Given the description of an element on the screen output the (x, y) to click on. 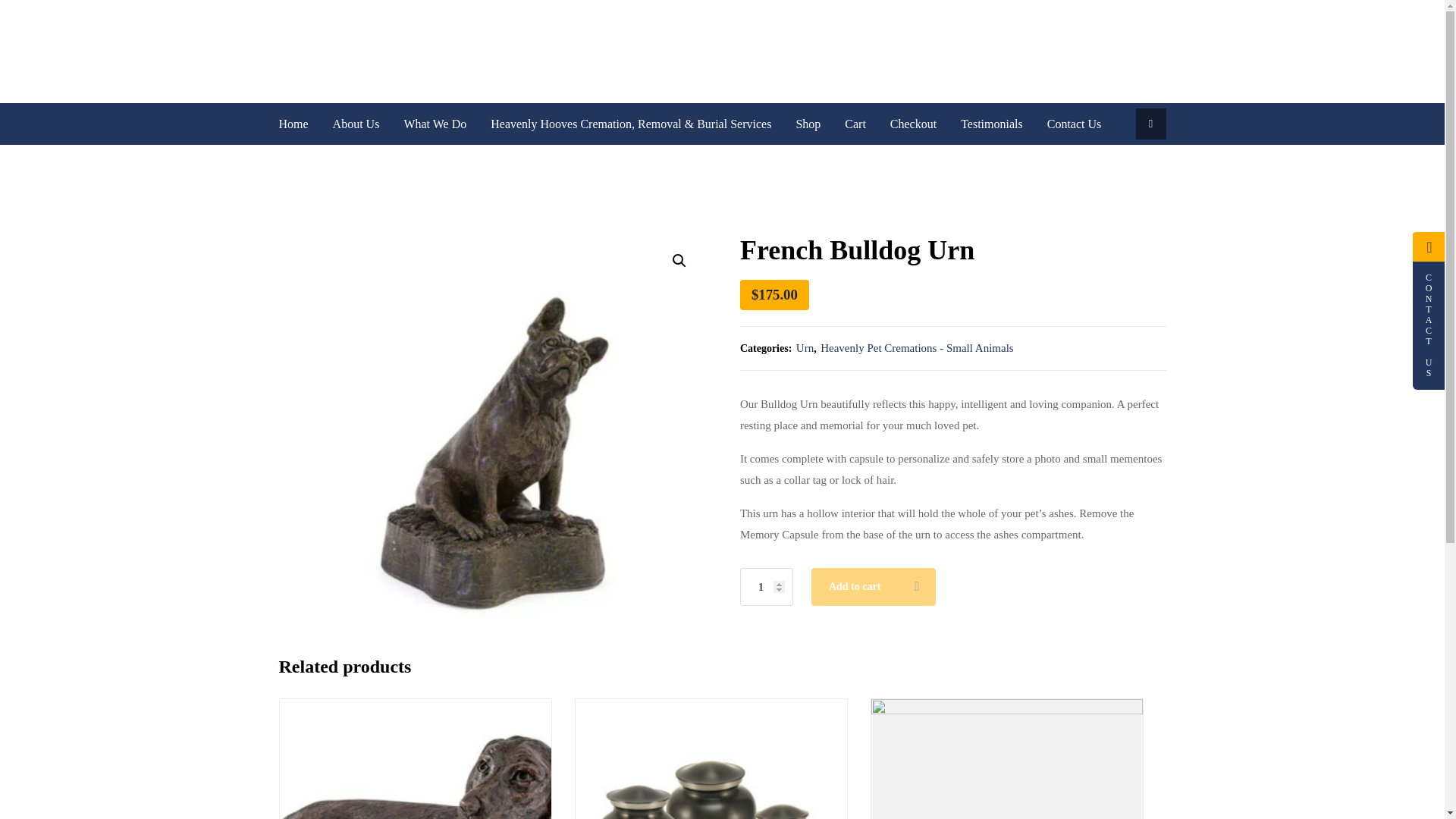
Qty (766, 587)
What We Do (435, 123)
Add to cart (871, 587)
Home (299, 123)
Contact Us (1068, 123)
1 (766, 587)
Heavenly Pet Cremations - Small Animals (917, 347)
Testimonials (992, 123)
About Us (355, 123)
Cart (854, 123)
Urn (804, 347)
Shop (807, 123)
Checkout (913, 123)
